Given the description of an element on the screen output the (x, y) to click on. 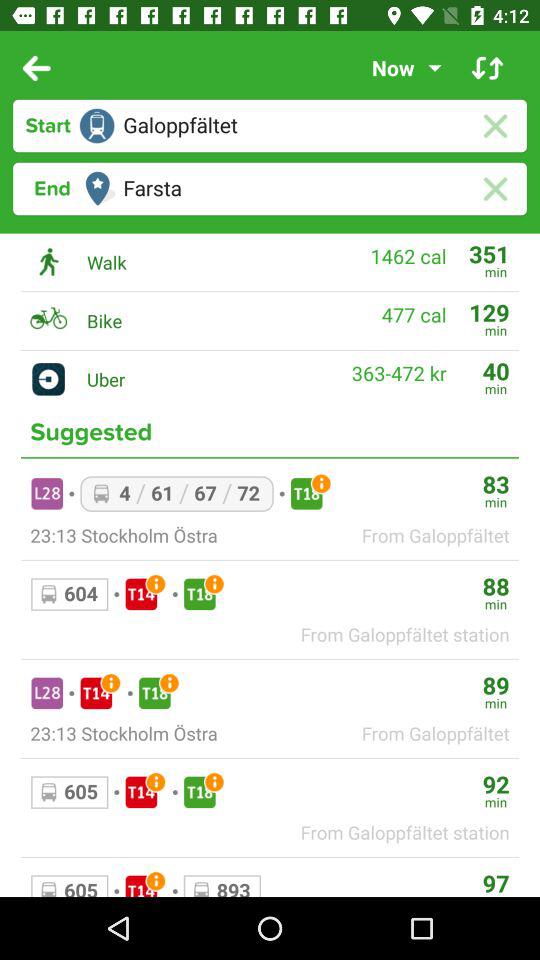
invert direction (487, 68)
